Given the description of an element on the screen output the (x, y) to click on. 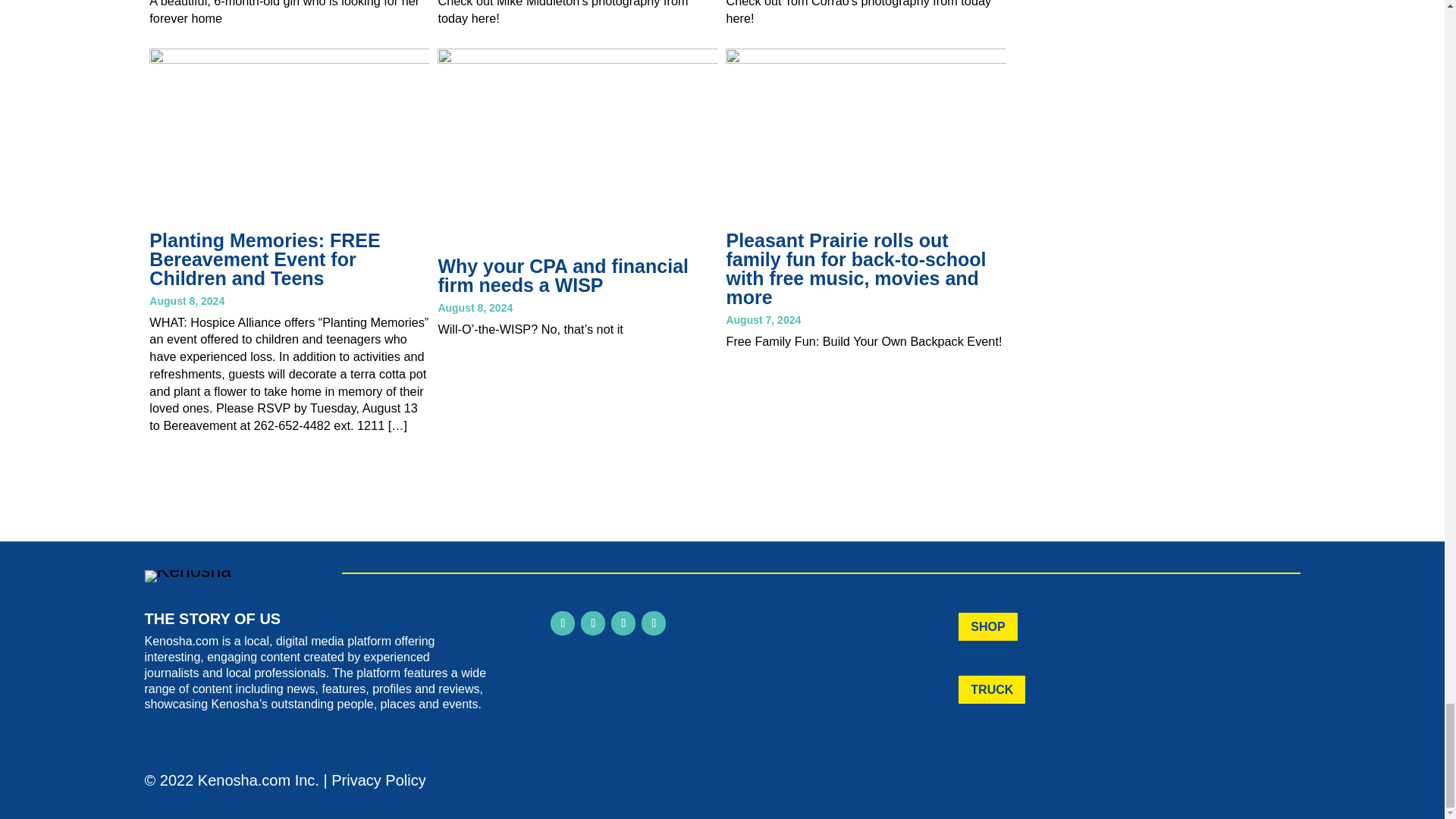
footer-logo (187, 576)
Follow on X (653, 622)
Follow on Instagram (592, 622)
Follow on LinkedIn (622, 622)
Follow on Facebook (562, 622)
